Given the description of an element on the screen output the (x, y) to click on. 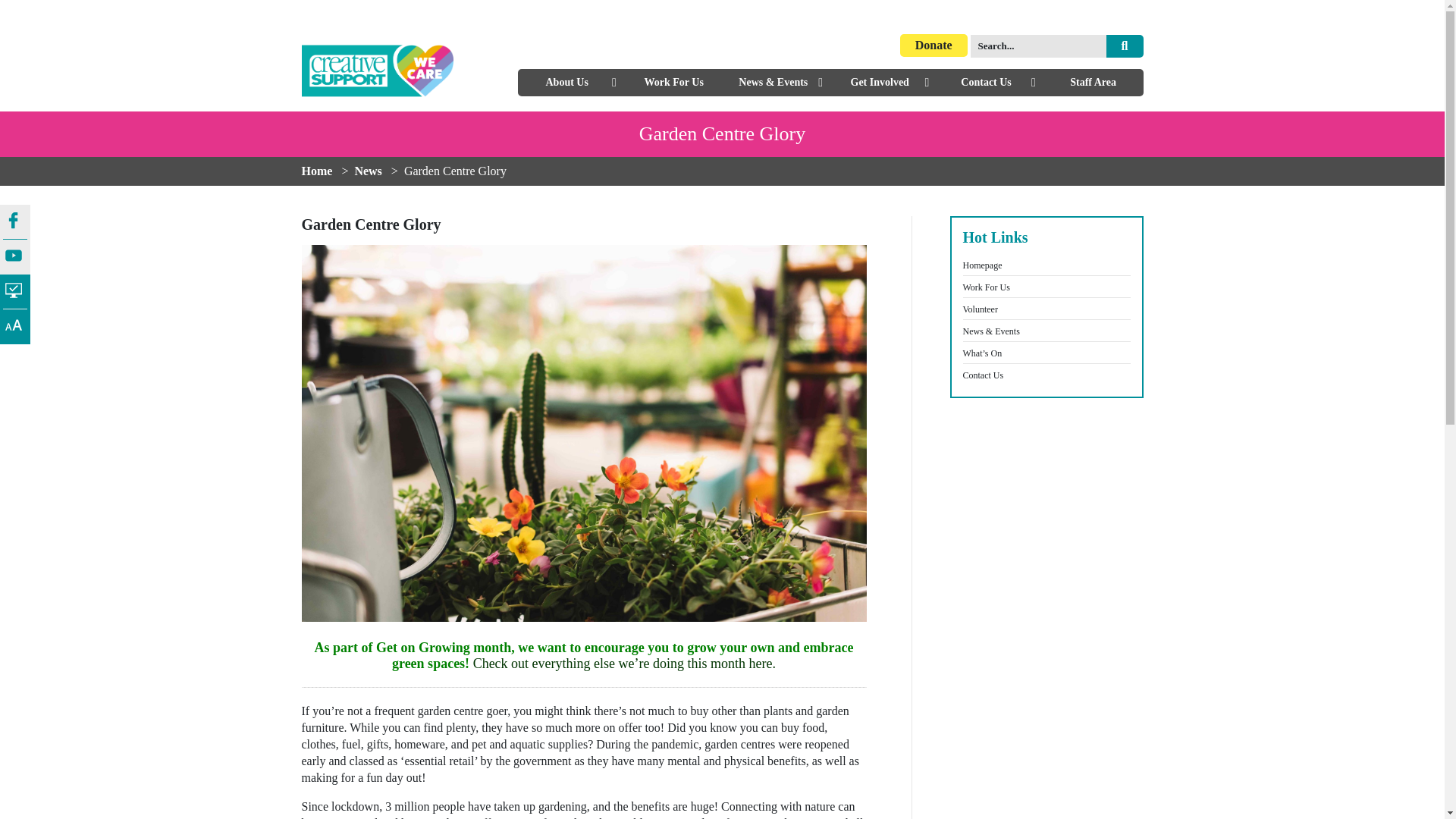
Search for (1038, 46)
Work For Us (673, 82)
Donate (933, 45)
About Us (566, 82)
